Given the description of an element on the screen output the (x, y) to click on. 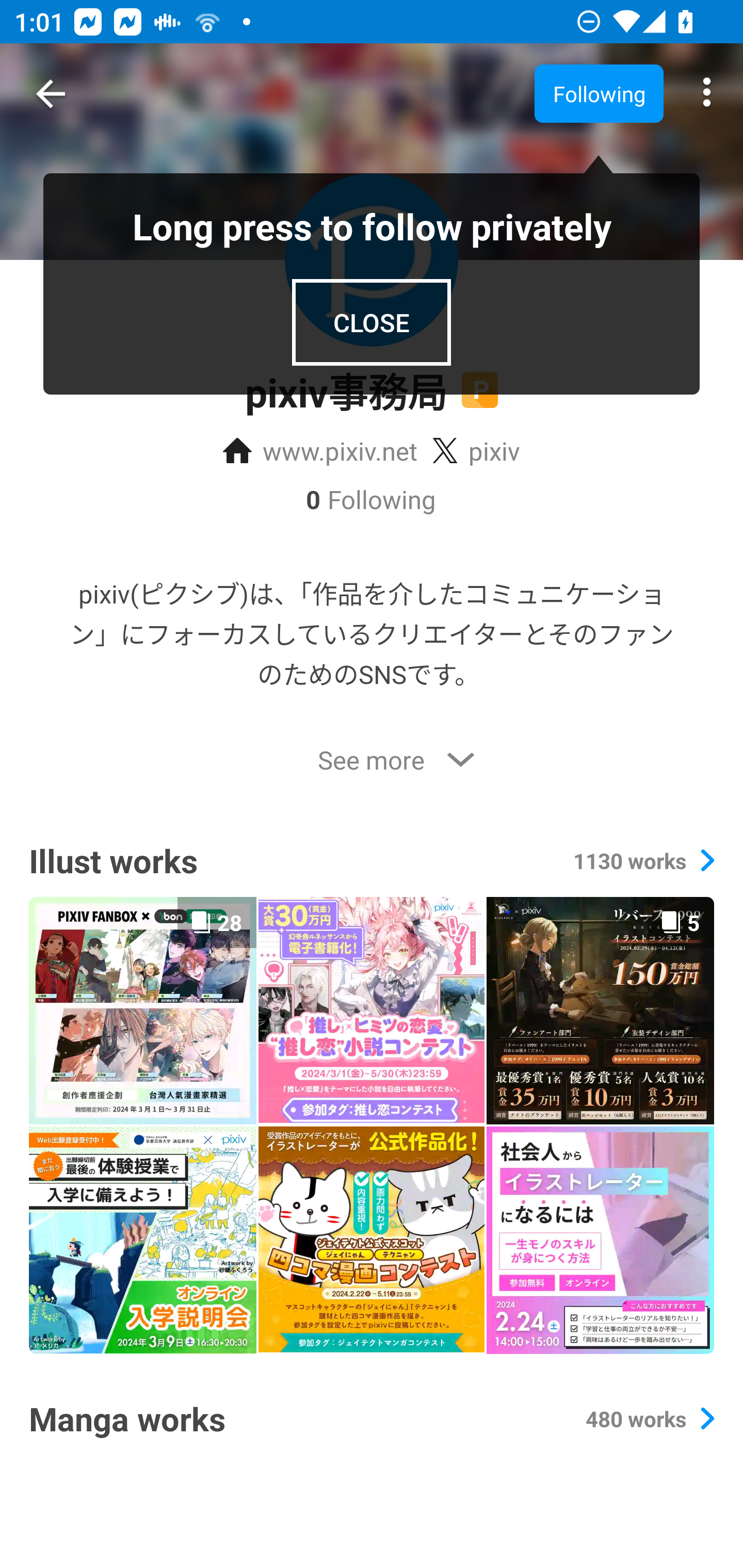
Navigate up (50, 93)
More options (706, 93)
Following (598, 93)
CLOSE (371, 322)
www.pixiv.net (319, 450)
pixiv (476, 450)
0 Following (371, 498)
See more (371, 760)
1130 works (643, 859)
28 (142, 1010)
5 (600, 1010)
480 works (649, 1418)
